Given the description of an element on the screen output the (x, y) to click on. 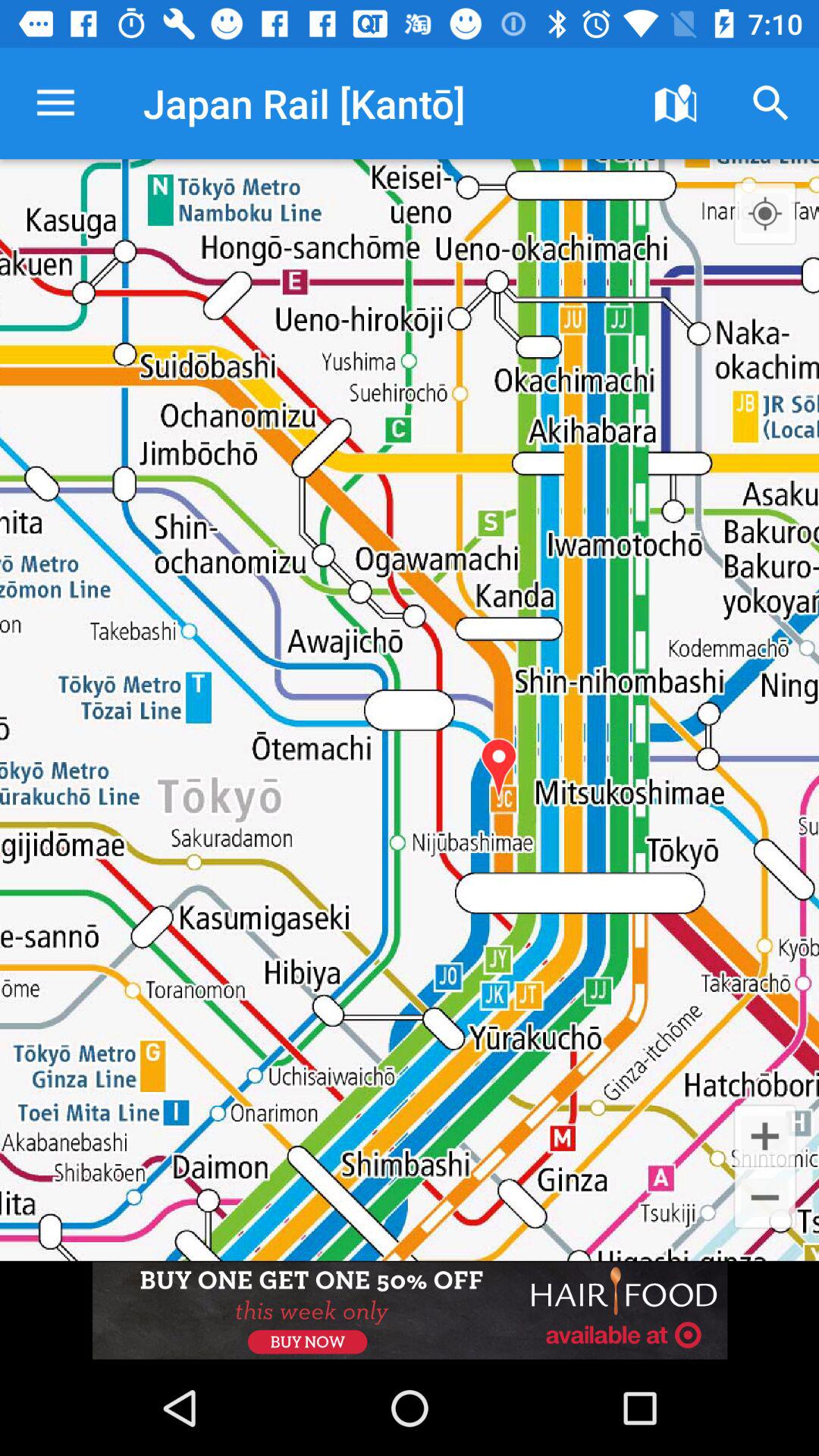
zoom out (764, 1197)
